Given the description of an element on the screen output the (x, y) to click on. 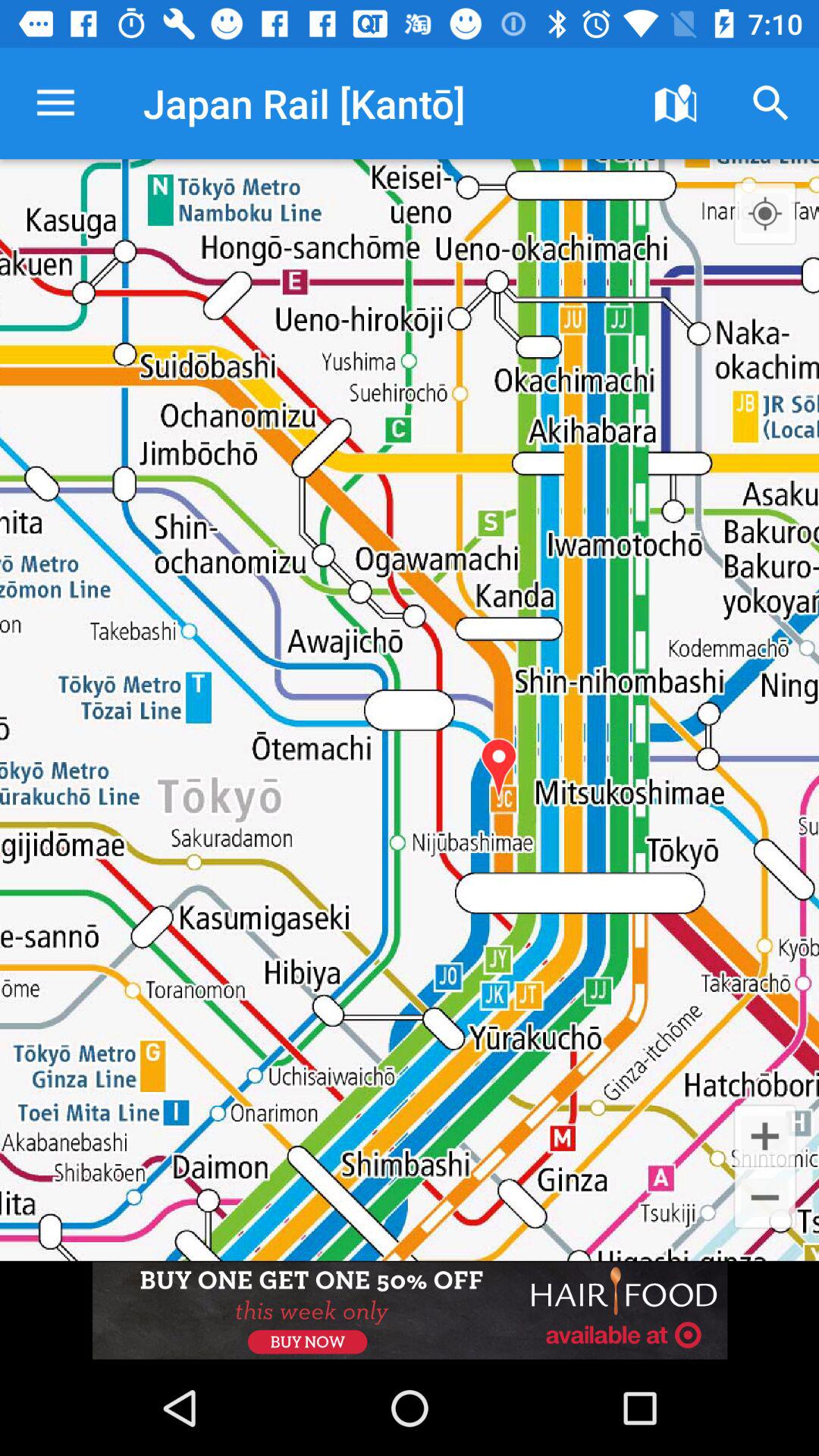
zoom out (764, 1197)
